Given the description of an element on the screen output the (x, y) to click on. 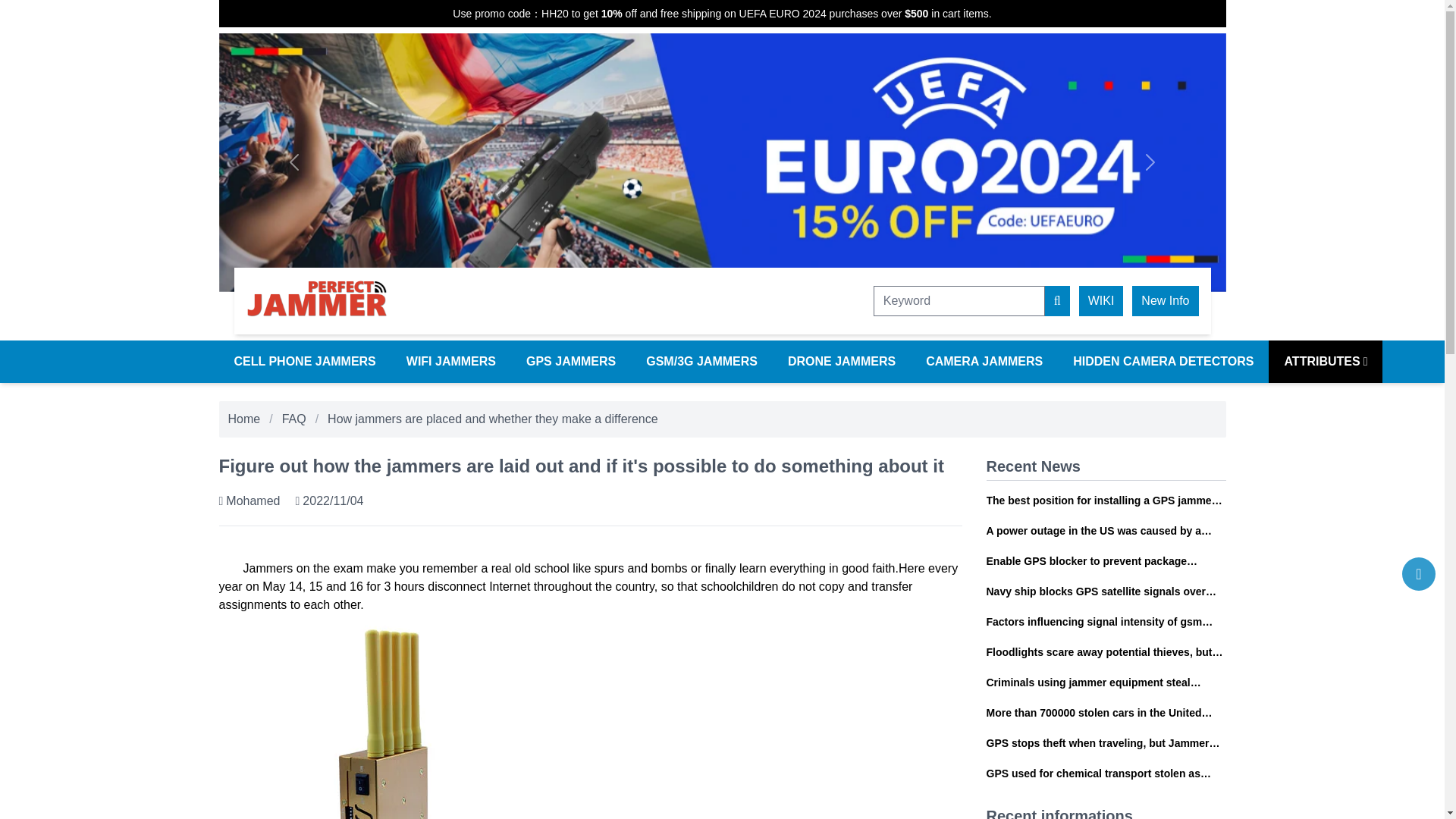
DRONE JAMMERS (842, 361)
CELL PHONE JAMMERS (304, 361)
WIKI (1101, 300)
WIFI JAMMERS (451, 361)
ATTRIBUTES (1324, 361)
CAMERA JAMMERS (984, 361)
New Info (1165, 300)
HIDDEN CAMERA DETECTORS (1163, 361)
GPS JAMMERS (570, 361)
